Given the description of an element on the screen output the (x, y) to click on. 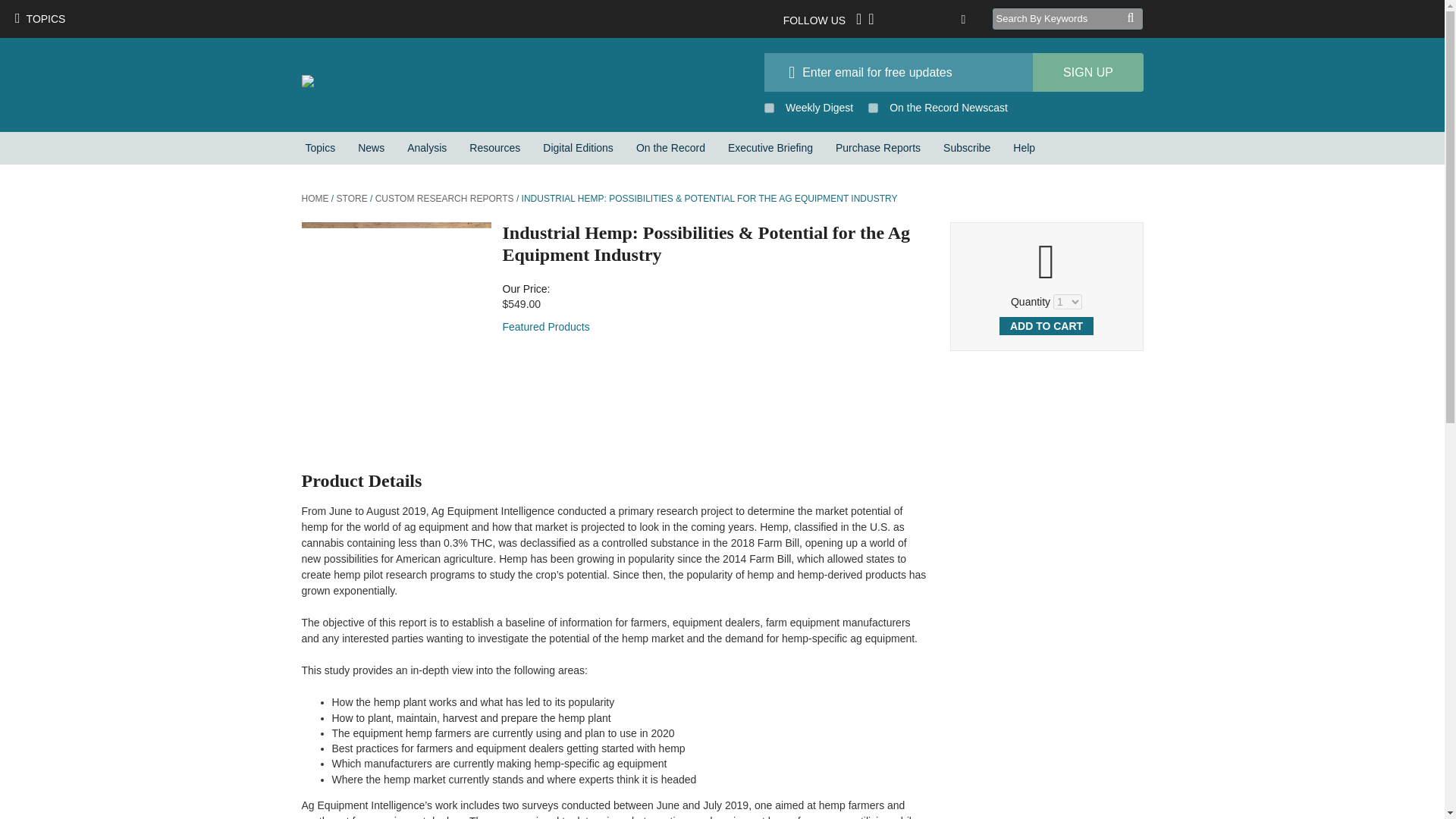
1 (769, 108)
Add to Cart (1045, 325)
Search By Keywords (1058, 18)
SIGN UP (1087, 72)
Search By Keywords (1058, 18)
1 (872, 108)
TOPICS (39, 18)
Topics (320, 147)
